Given the description of an element on the screen output the (x, y) to click on. 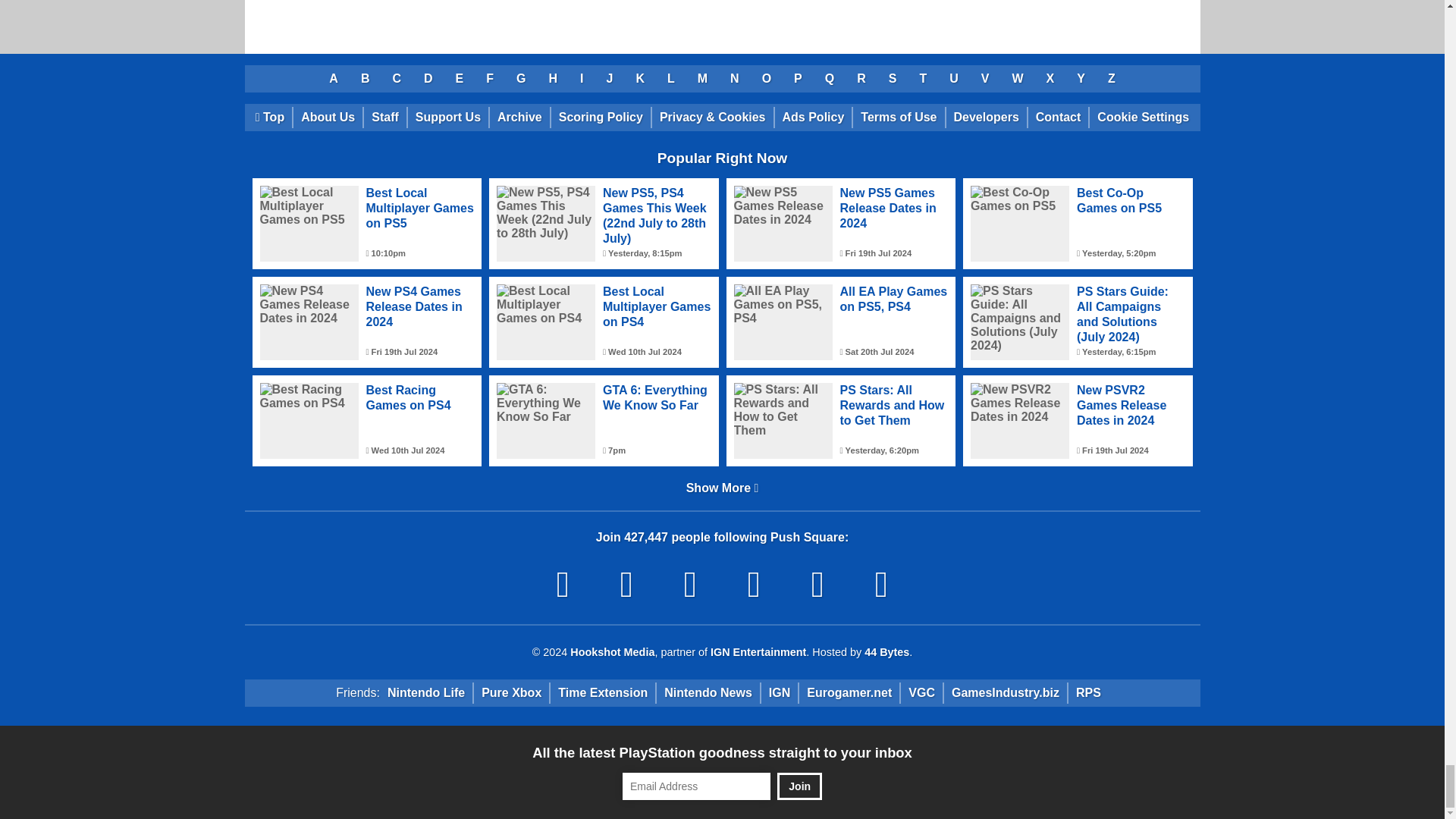
Join (799, 786)
